Given the description of an element on the screen output the (x, y) to click on. 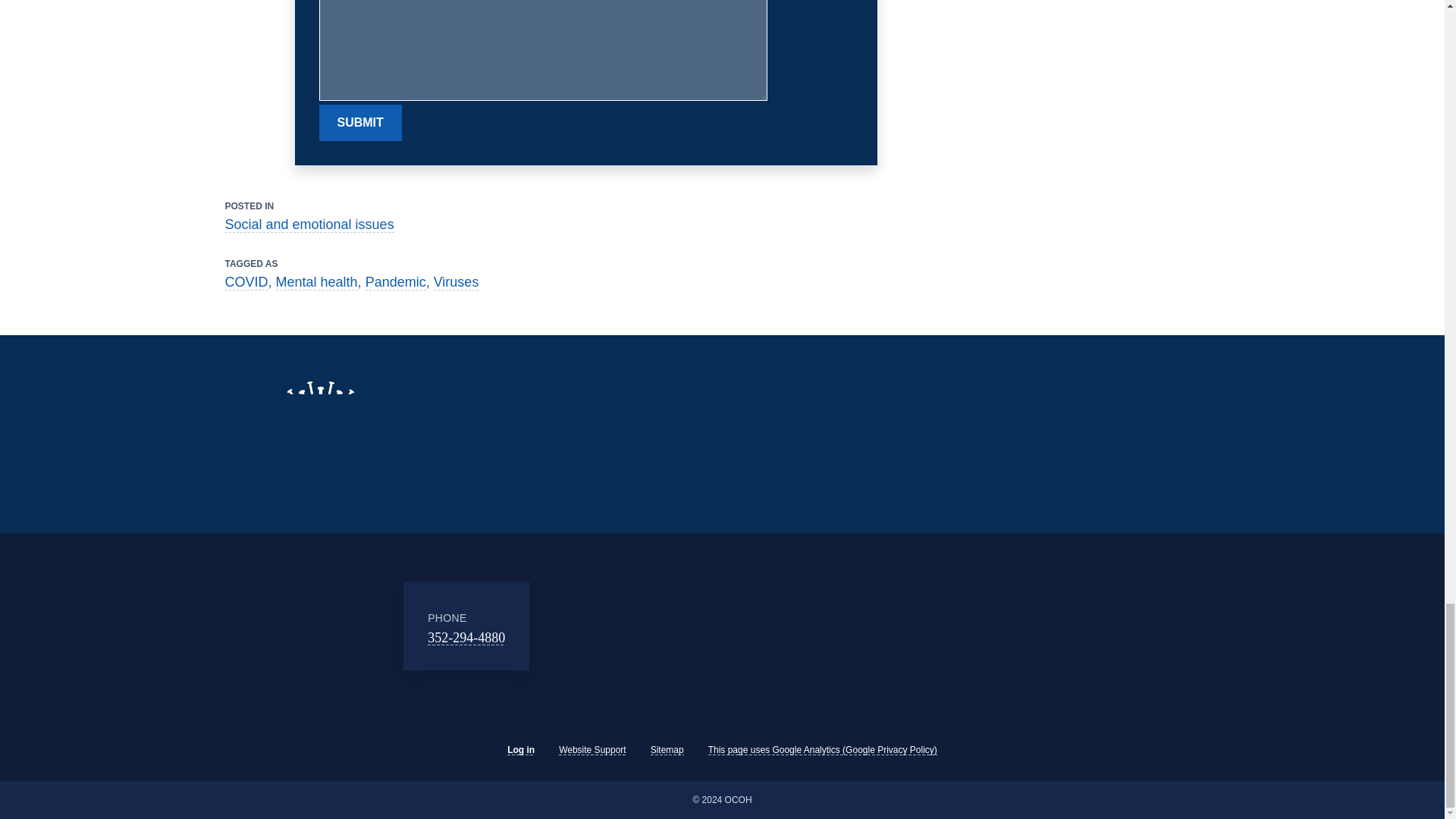
Sitemap (667, 749)
352-294-4880 (466, 637)
COVID (245, 282)
Submit (359, 122)
Website Support (592, 749)
Social and emotional issues (308, 224)
Log in (520, 749)
